Given the description of an element on the screen output the (x, y) to click on. 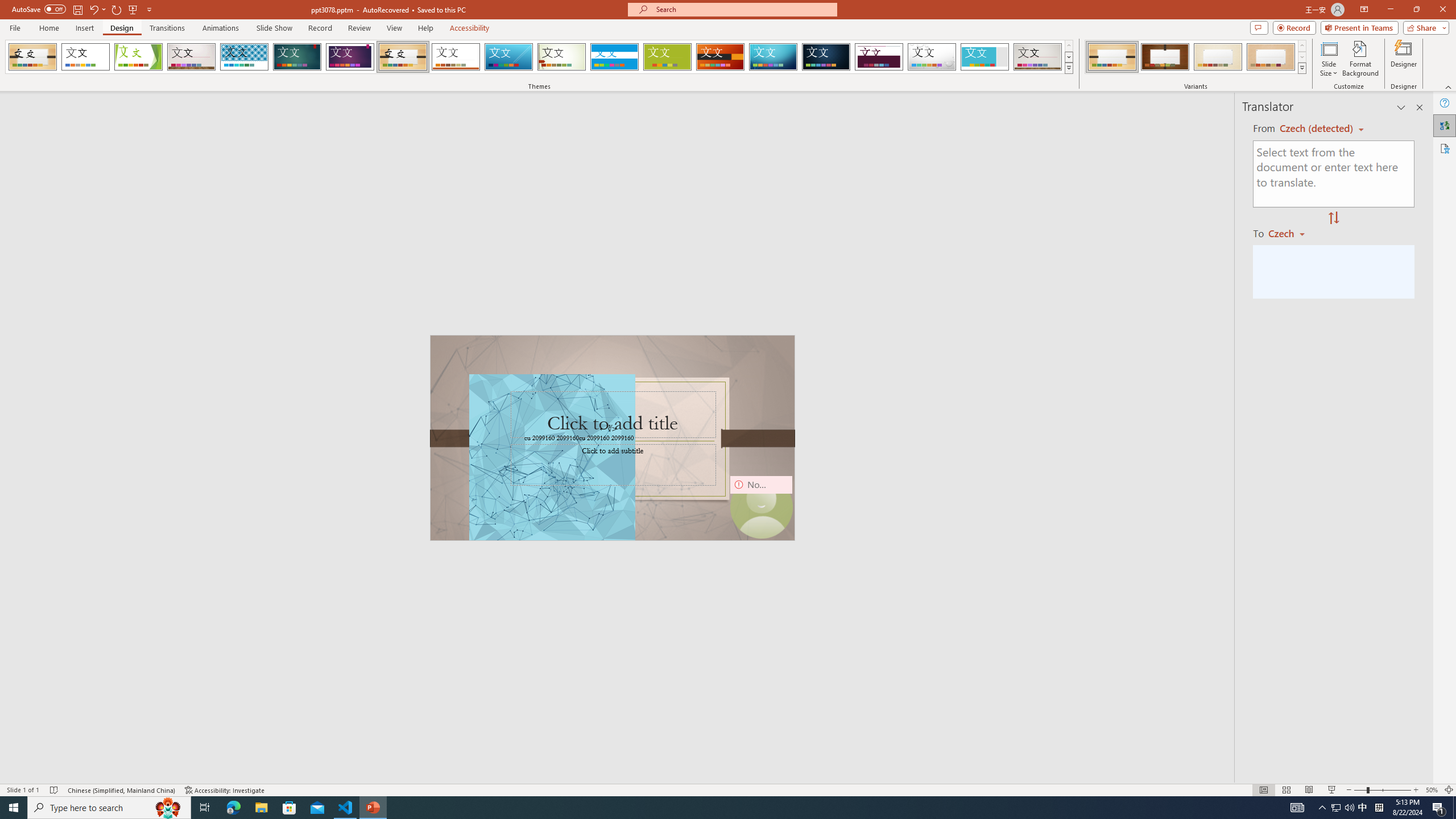
Organic Variant 3 (1217, 56)
Ion (296, 56)
Dividend (879, 56)
AutomationID: ThemeVariantsGallery (1195, 56)
Ion Boardroom (350, 56)
